Given the description of an element on the screen output the (x, y) to click on. 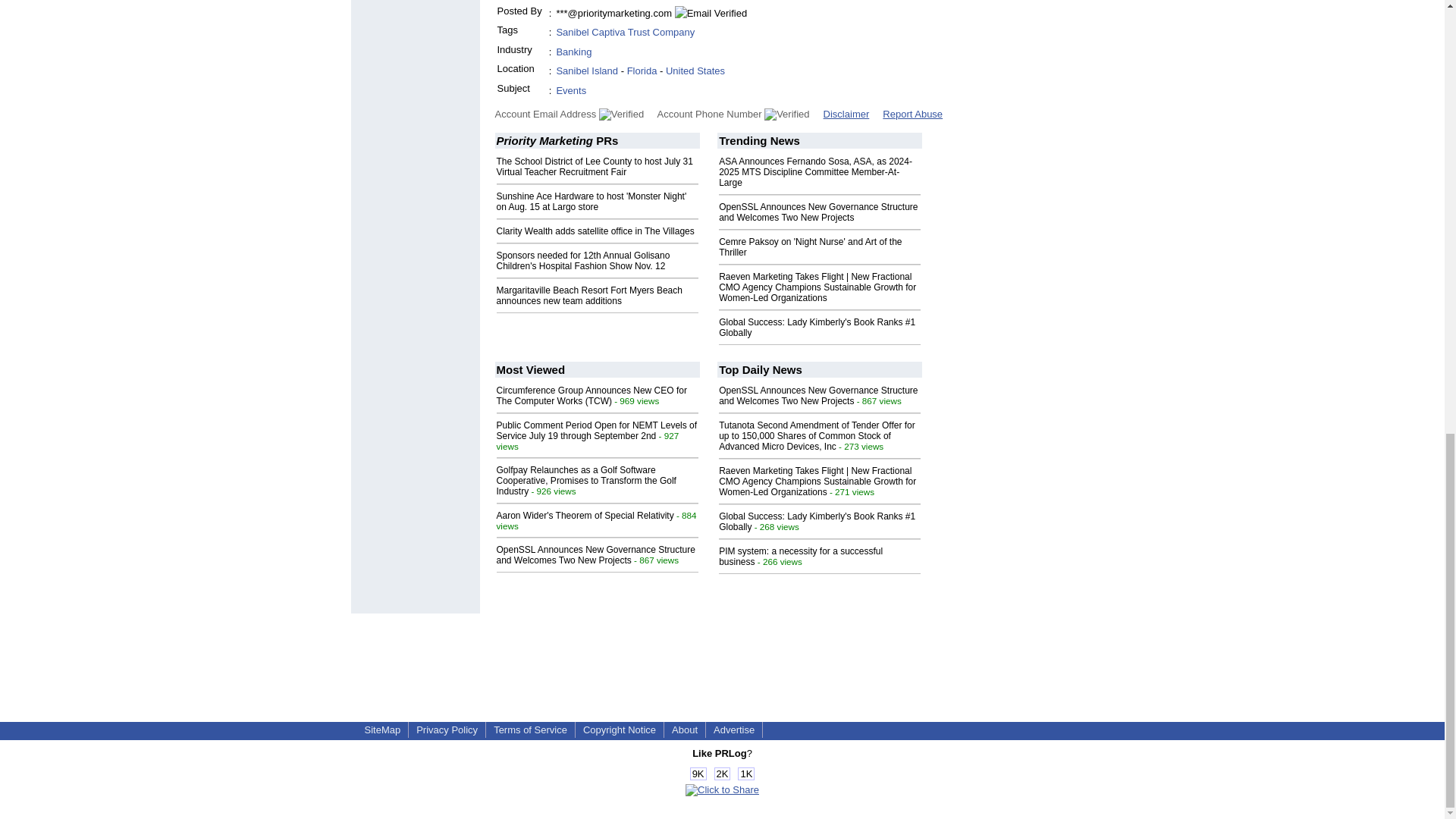
Share this page! (721, 789)
Email Verified (710, 13)
Verified (620, 114)
Verified (786, 114)
